Given the description of an element on the screen output the (x, y) to click on. 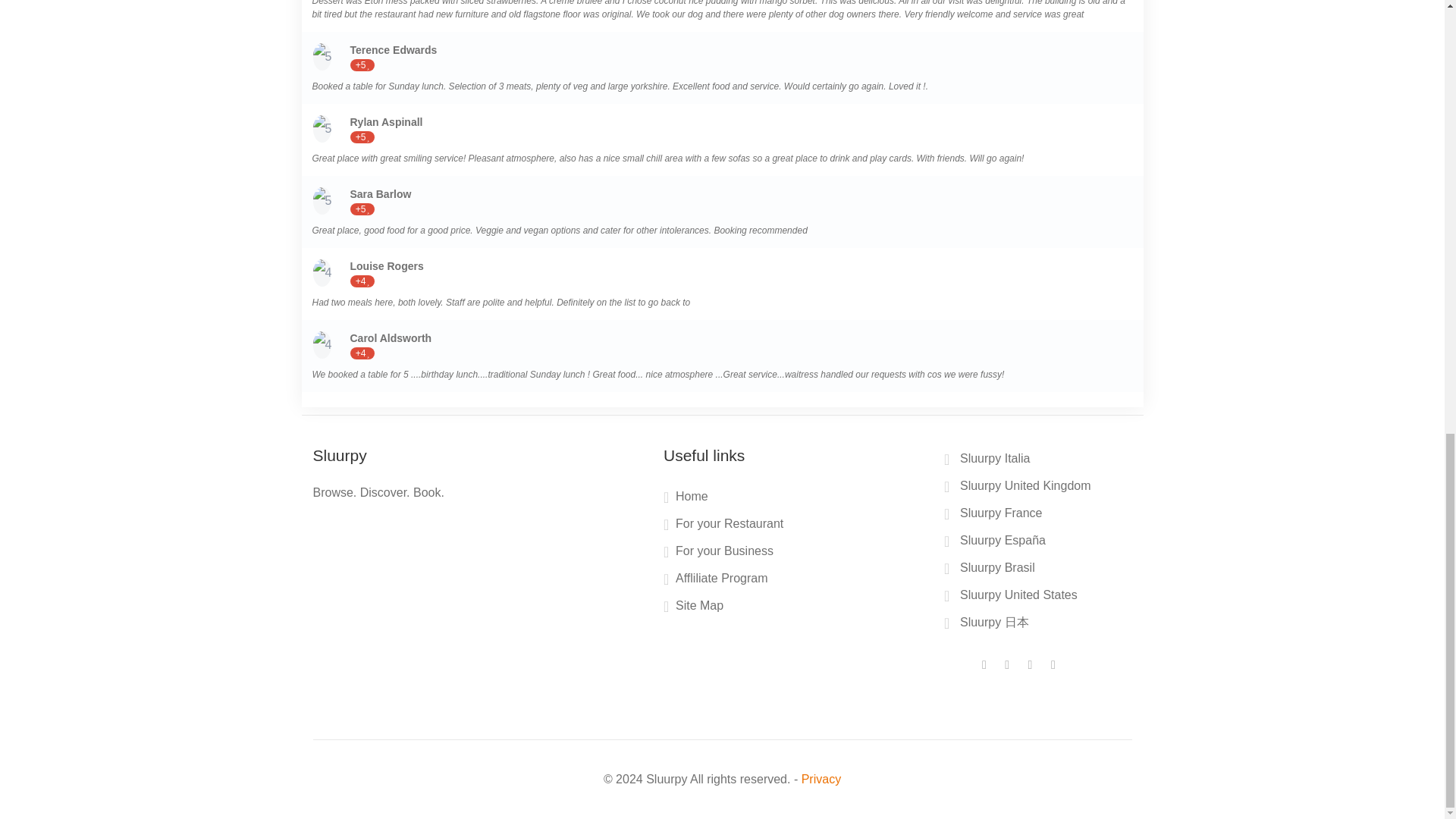
Sluurpy United Kingdom (1018, 487)
Home (685, 499)
Affliliate Program (715, 581)
Sluurpy France (994, 515)
Privacy (821, 779)
Sluurpy Brasil (991, 569)
Site Map (693, 608)
For your Business (718, 553)
Sluurpy United States (1012, 597)
Sluurpy Italia (988, 460)
